Given the description of an element on the screen output the (x, y) to click on. 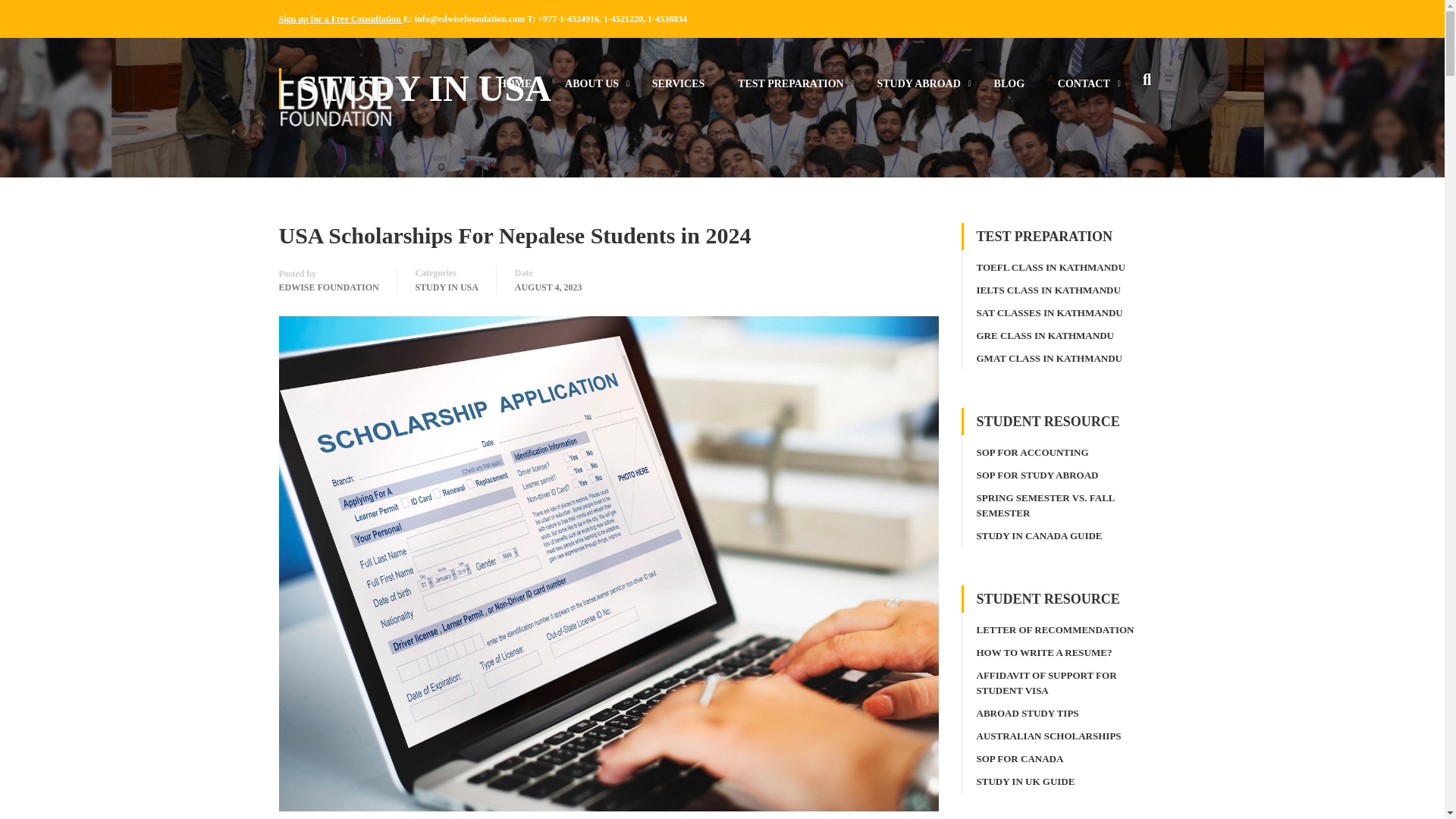
TEST PREPARATION (790, 90)
Search (1147, 83)
Sign up for a Free Consultation (341, 18)
Search (1147, 83)
HOME (515, 90)
SERVICES (678, 90)
ABOUT US (591, 90)
